Given the description of an element on the screen output the (x, y) to click on. 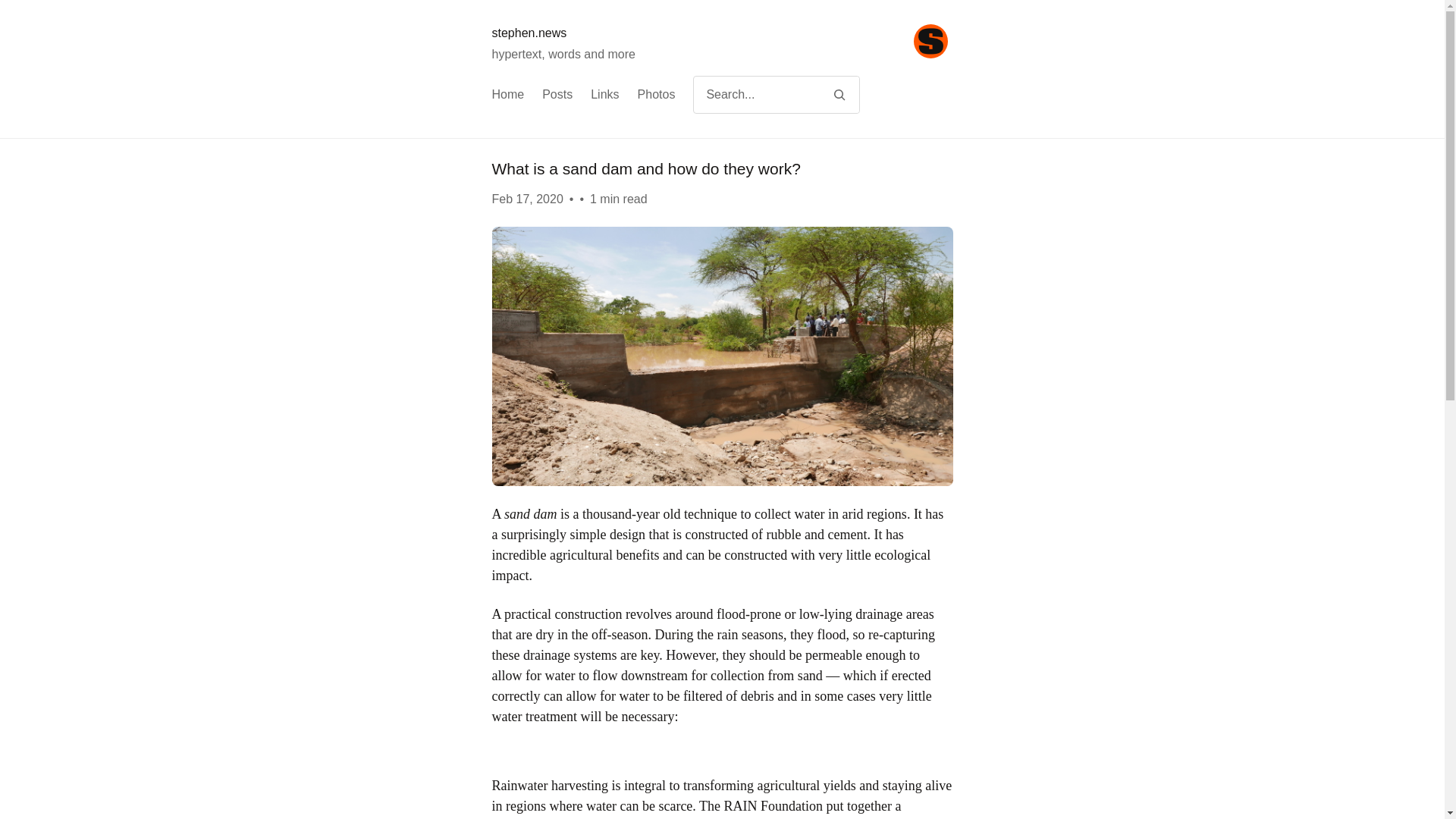
Posts (556, 94)
Photos (656, 94)
Links (604, 94)
stephen.news (529, 32)
Home (508, 94)
